Given the description of an element on the screen output the (x, y) to click on. 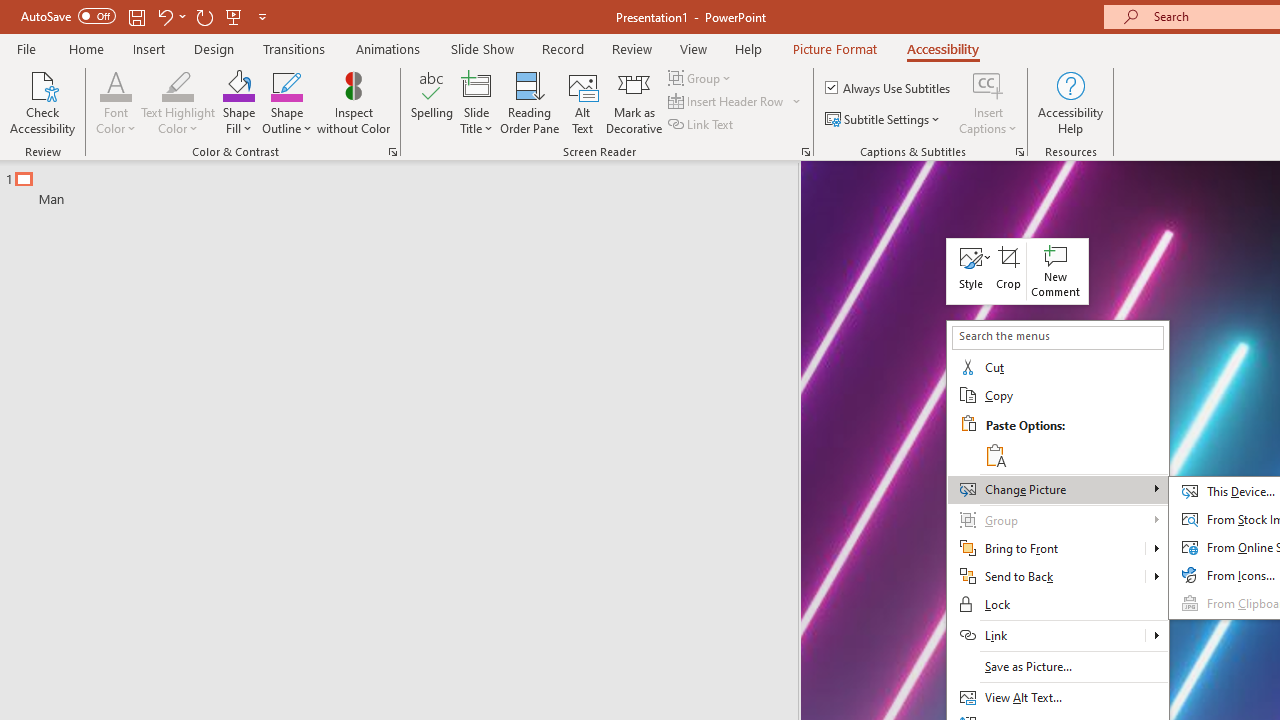
Mark as Decorative (634, 102)
Accessibility Help (1070, 102)
